Given the description of an element on the screen output the (x, y) to click on. 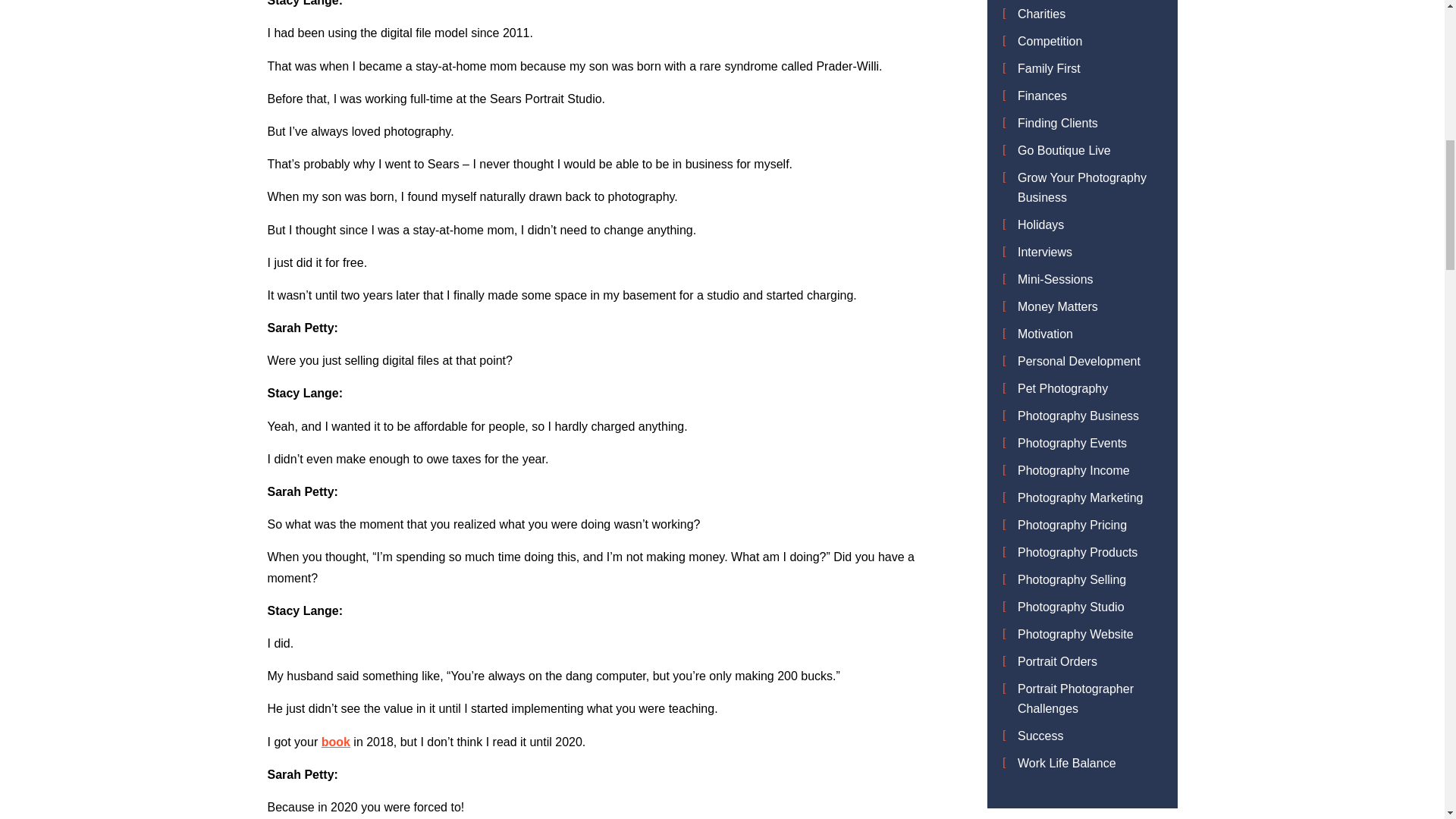
Photography Marketing (1079, 497)
Family First (1048, 68)
Photography Business (1077, 415)
Finances (1042, 95)
Go Boutique Live (1063, 150)
Competition (1049, 41)
Photography Events (1071, 442)
Money Matters (1057, 306)
Pet Photography (1062, 388)
Mini-Sessions (1055, 278)
Photography Selling (1071, 579)
Photography Pricing (1071, 524)
Photography Income (1073, 470)
Interviews (1044, 251)
Personal Development (1078, 360)
